Given the description of an element on the screen output the (x, y) to click on. 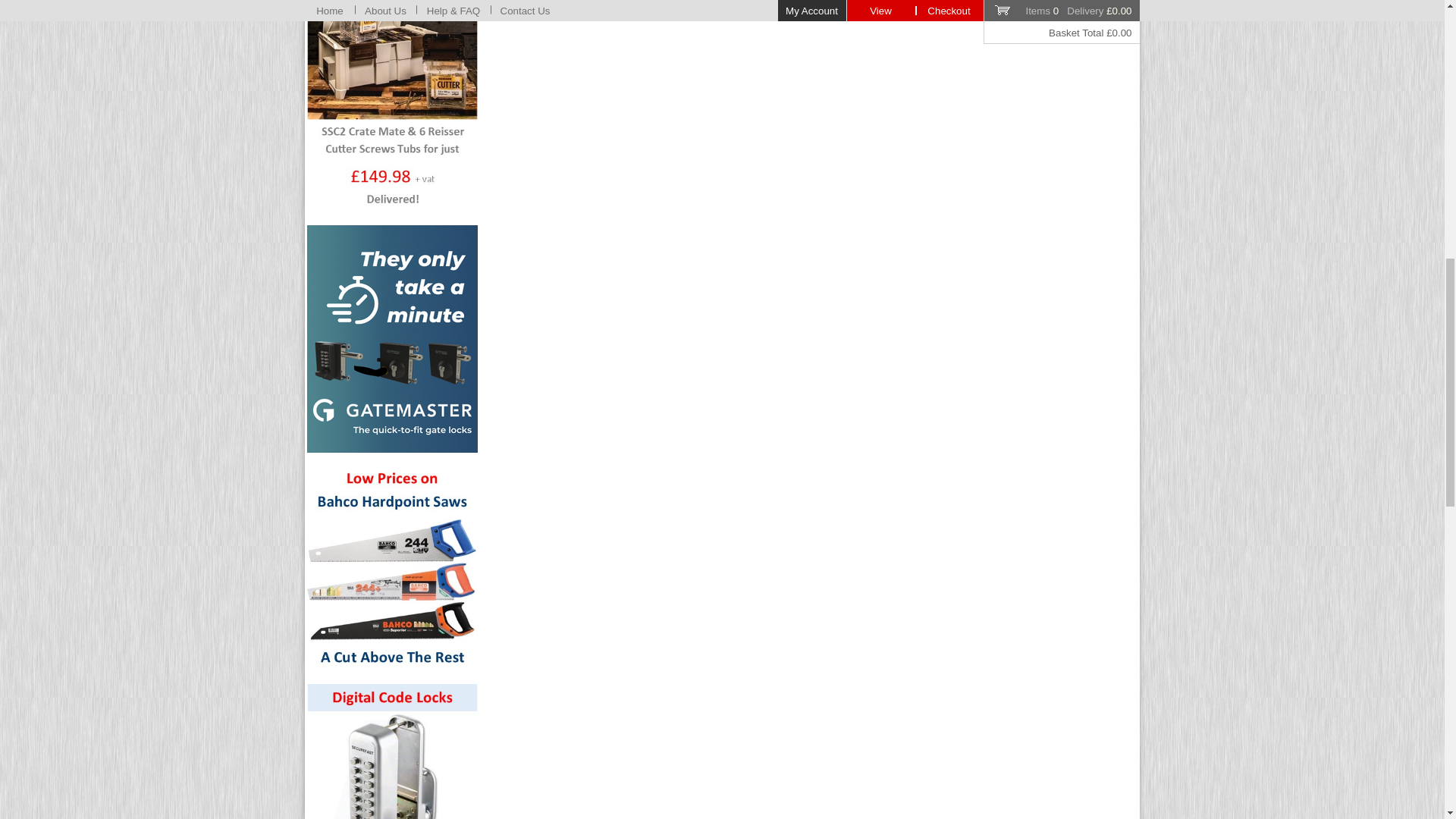
Securefast Digital Code Locks. (392, 751)
